Given the description of an element on the screen output the (x, y) to click on. 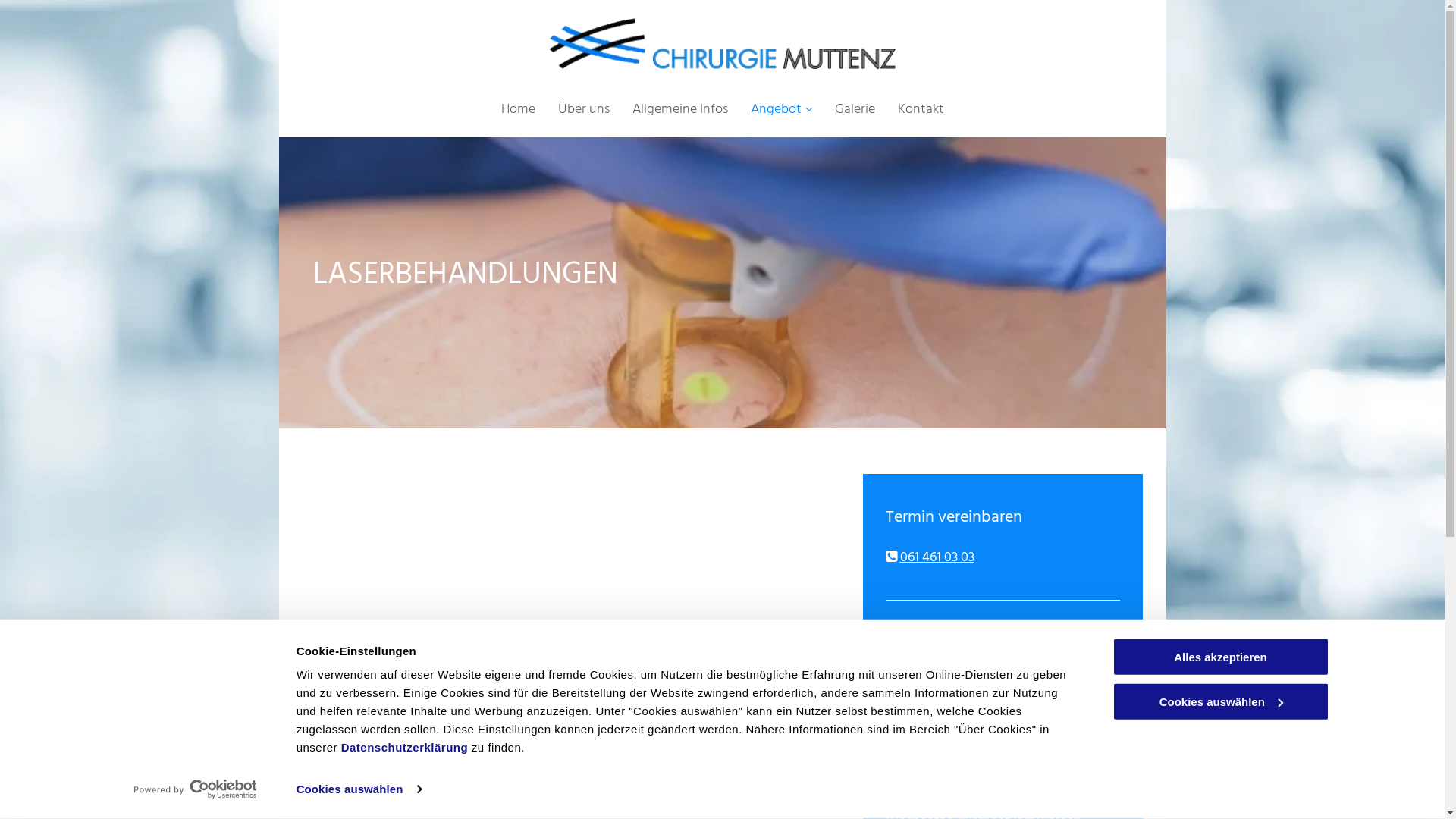
Allgemeine Infos Element type: text (680, 109)
Angebot Element type: text (781, 109)
Galerie Element type: text (854, 109)
061 461 03 03 Element type: text (936, 557)
Kontakt Element type: text (920, 109)
Alles akzeptieren Element type: text (1219, 656)
Home Element type: text (517, 109)
